Given the description of an element on the screen output the (x, y) to click on. 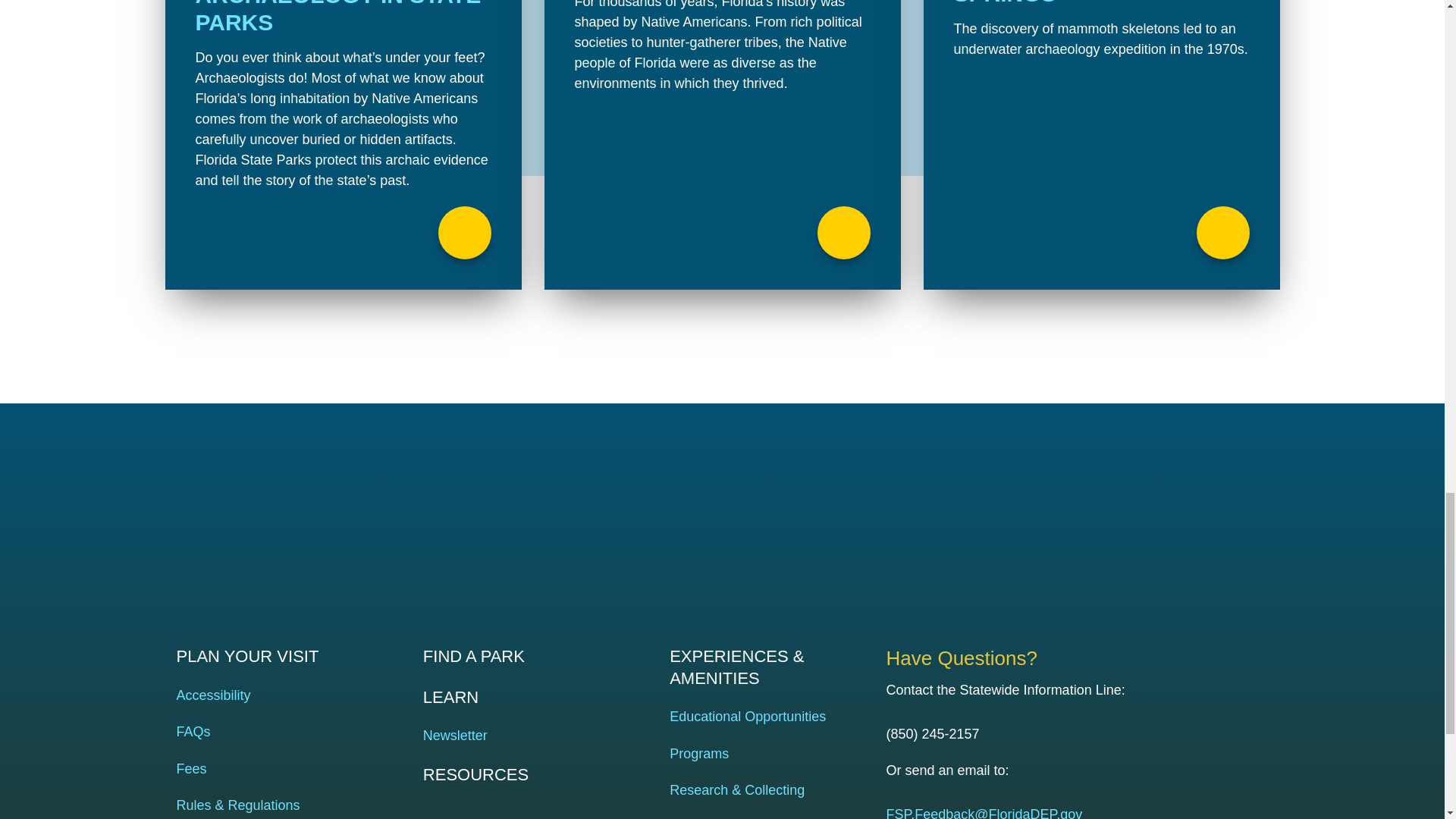
Dig Deep Into Archaeology in State Parks  (343, 144)
Florida's Native Archaeology (722, 144)
Discovering Mammoth Bones at Silver Springs (1101, 144)
